Given the description of an element on the screen output the (x, y) to click on. 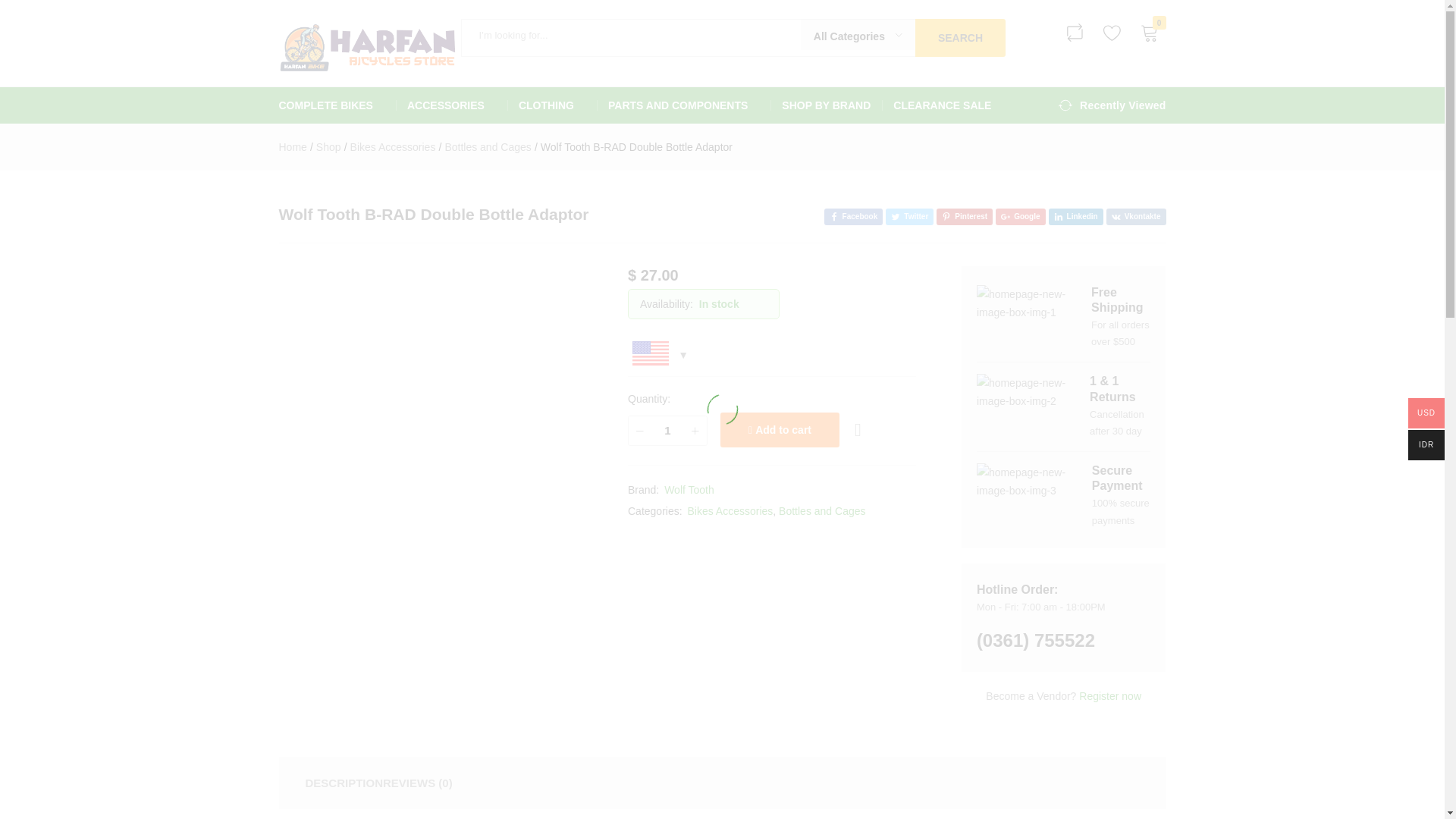
0 (1149, 33)
ACCESSORIES (451, 104)
Wolf Tooth B-RAD Double Bottle Adaptor (853, 216)
Please select your currency (657, 355)
Qty (667, 430)
homepage-new-image-box-img-1 (1023, 303)
CLOTHING (551, 104)
COMPLETE BIKES (337, 104)
1 (667, 430)
Wolf Tooth B-RAD Double Bottle Adaptor (1075, 216)
